Given the description of an element on the screen output the (x, y) to click on. 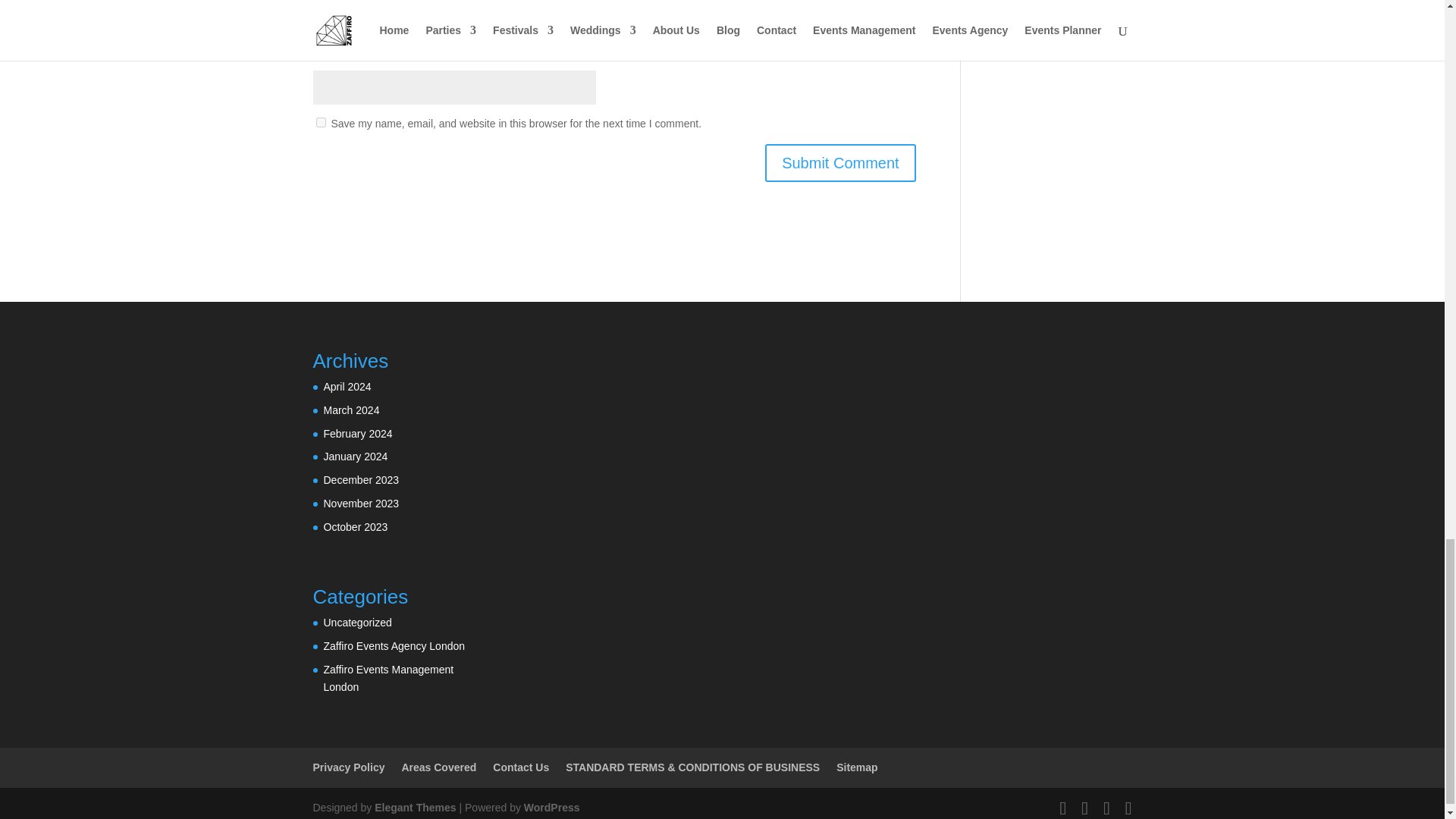
Submit Comment (840, 162)
Submit Comment (840, 162)
yes (319, 122)
Premium WordPress Themes (414, 807)
